Given the description of an element on the screen output the (x, y) to click on. 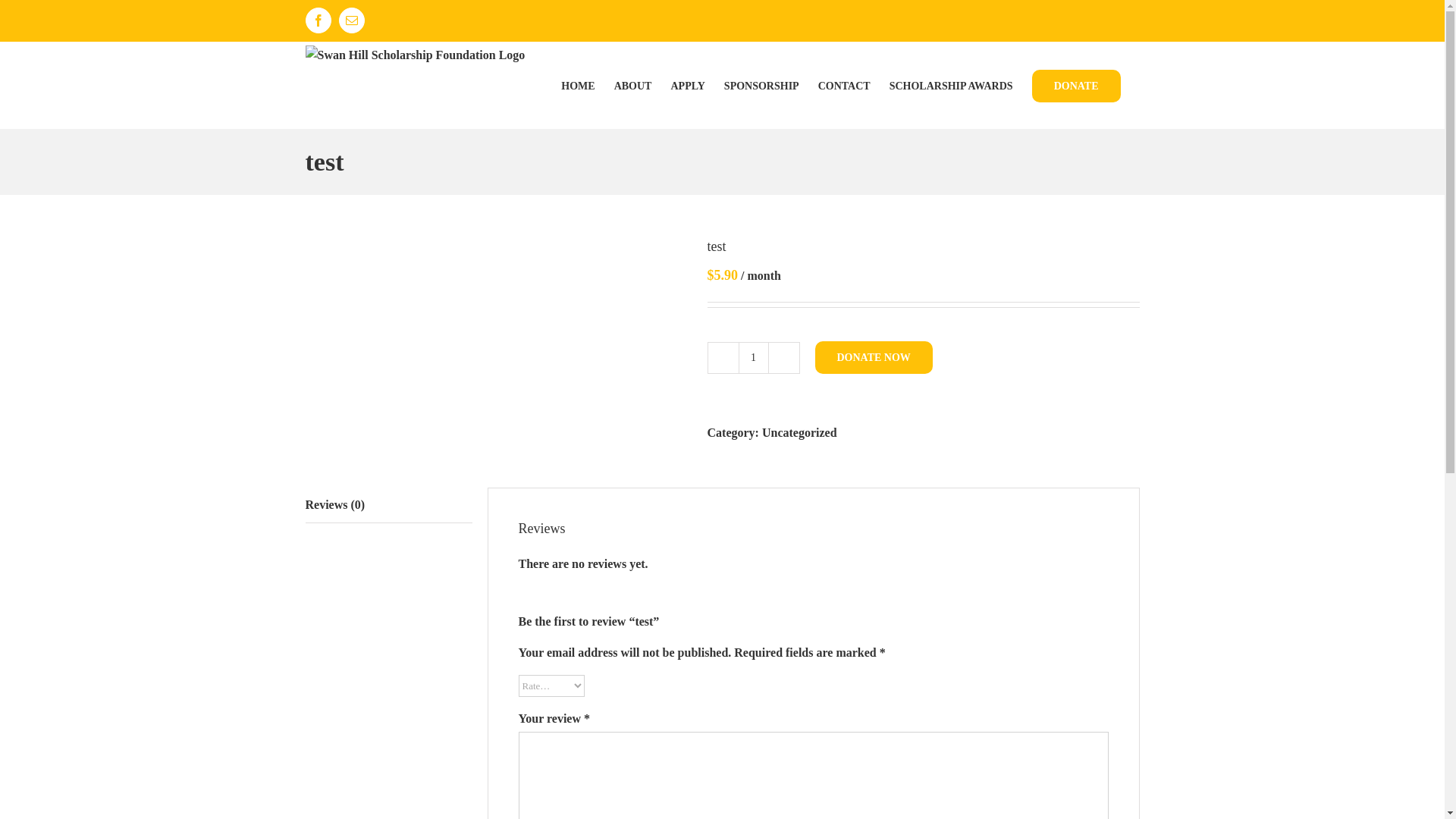
ABOUT Element type: text (633, 84)
APPLY Element type: text (687, 84)
Email Element type: text (351, 20)
Reviews (0) Element type: text (387, 505)
Uncategorized Element type: text (799, 432)
CONTACT Element type: text (844, 84)
SCHOLARSHIP AWARDS Element type: text (951, 84)
SPONSORSHIP Element type: text (761, 84)
DONATE NOW Element type: text (872, 357)
HOME Element type: text (577, 84)
DONATE Element type: text (1076, 84)
Facebook Element type: text (317, 20)
